Given the description of an element on the screen output the (x, y) to click on. 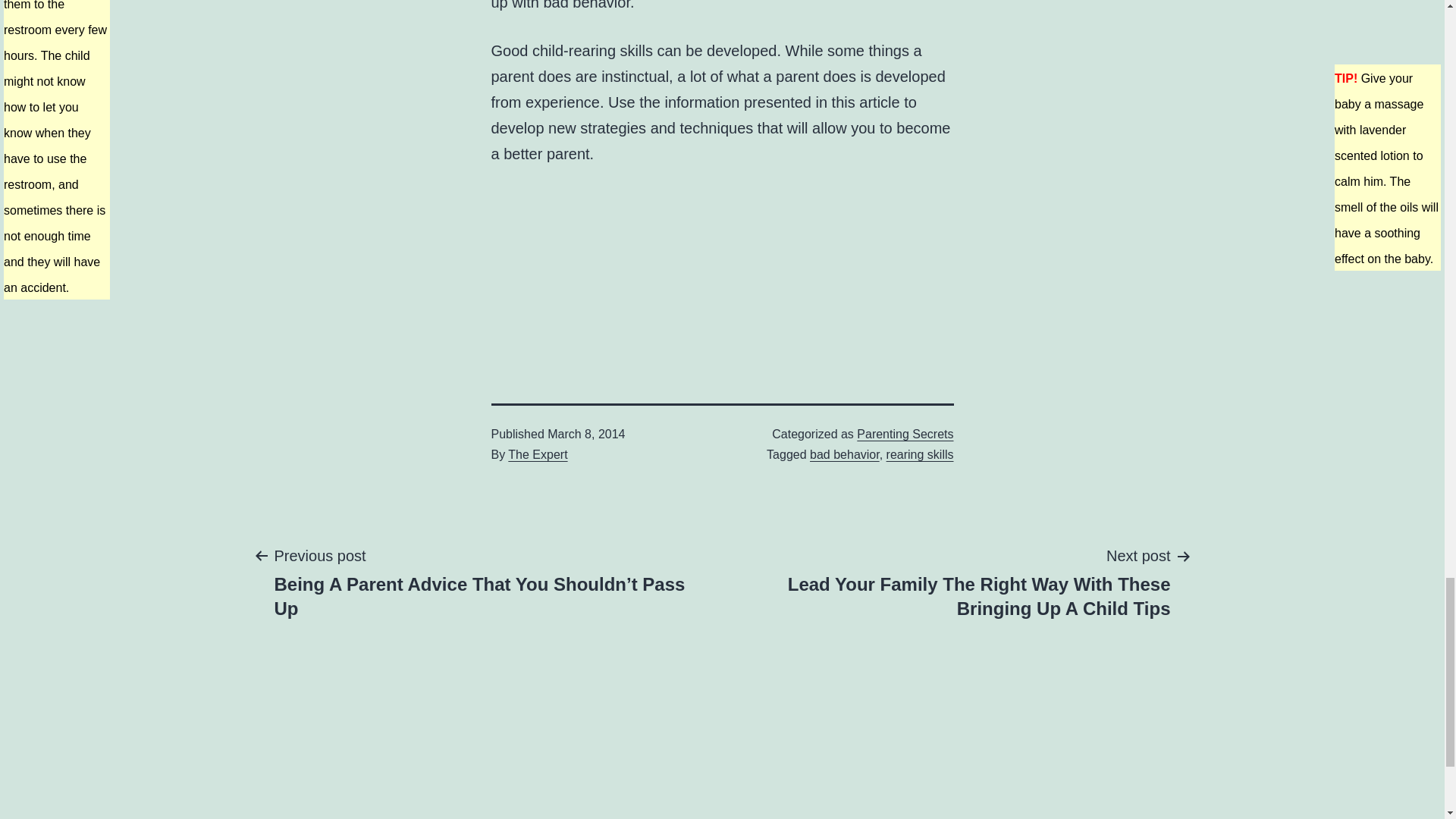
The Expert (537, 454)
Parenting Secrets (905, 433)
bad behavior (844, 454)
rearing skills (919, 454)
